Given the description of an element on the screen output the (x, y) to click on. 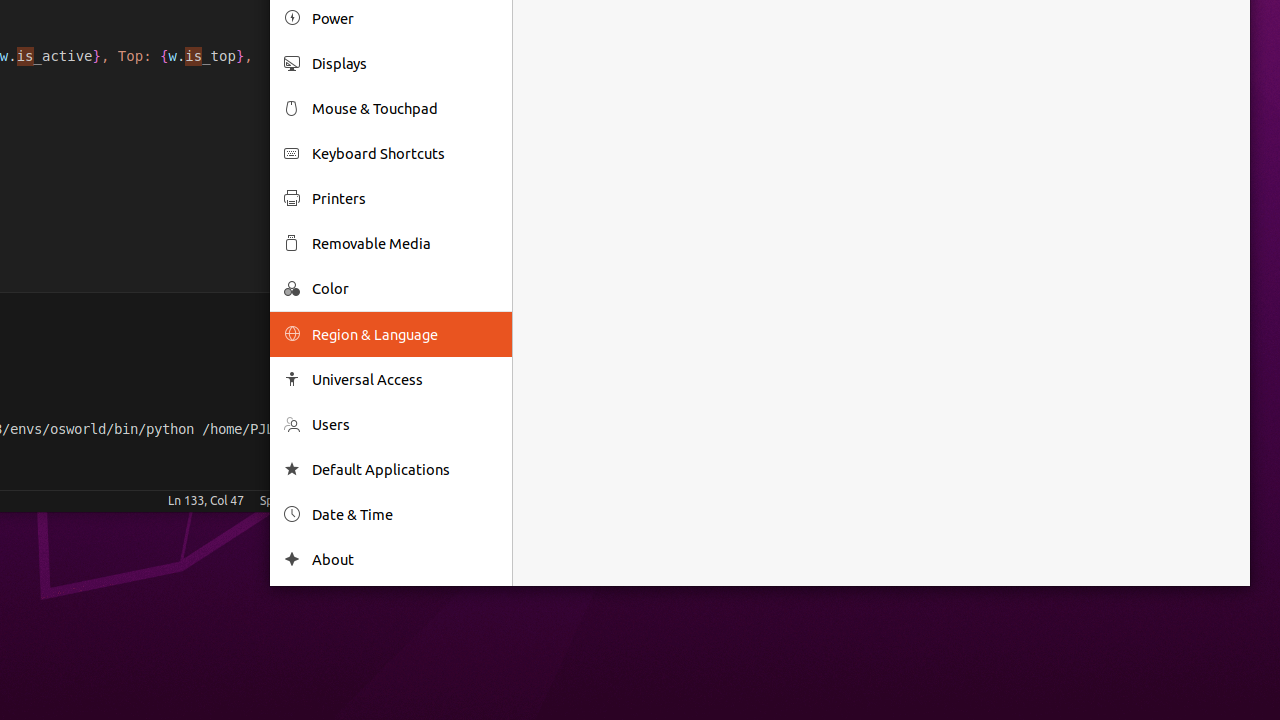
Color Element type: label (405, 288)
Power Element type: label (405, 18)
Users Element type: label (405, 424)
Keyboard Shortcuts Element type: label (405, 153)
About Element type: label (405, 559)
